Given the description of an element on the screen output the (x, y) to click on. 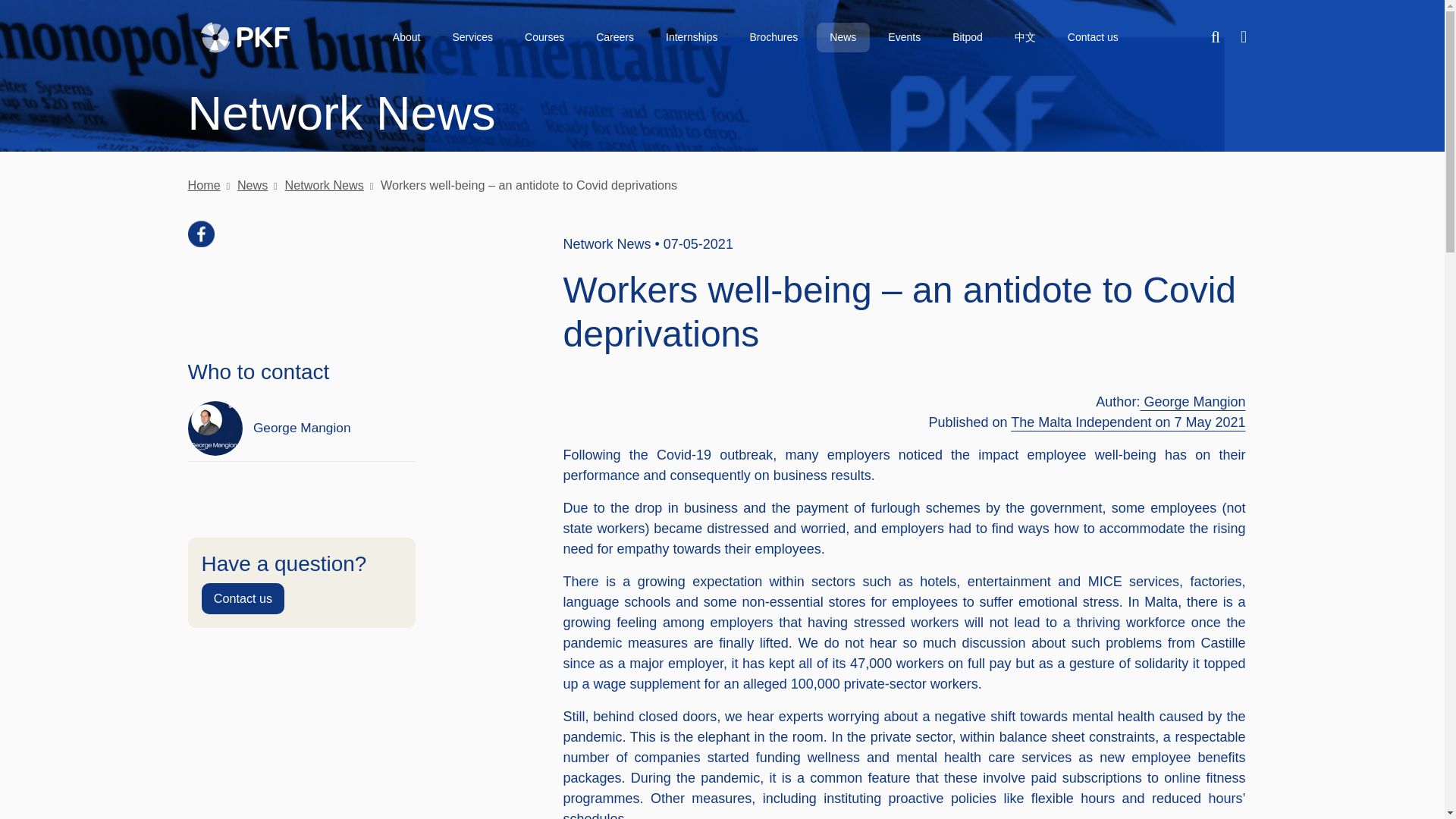
Bitpod (967, 37)
About (405, 37)
News (842, 37)
Brochures (773, 37)
Careers (615, 37)
Bitpod (967, 37)
Events (904, 37)
Services (472, 37)
Contact us (1092, 37)
Courses (545, 37)
